Given the description of an element on the screen output the (x, y) to click on. 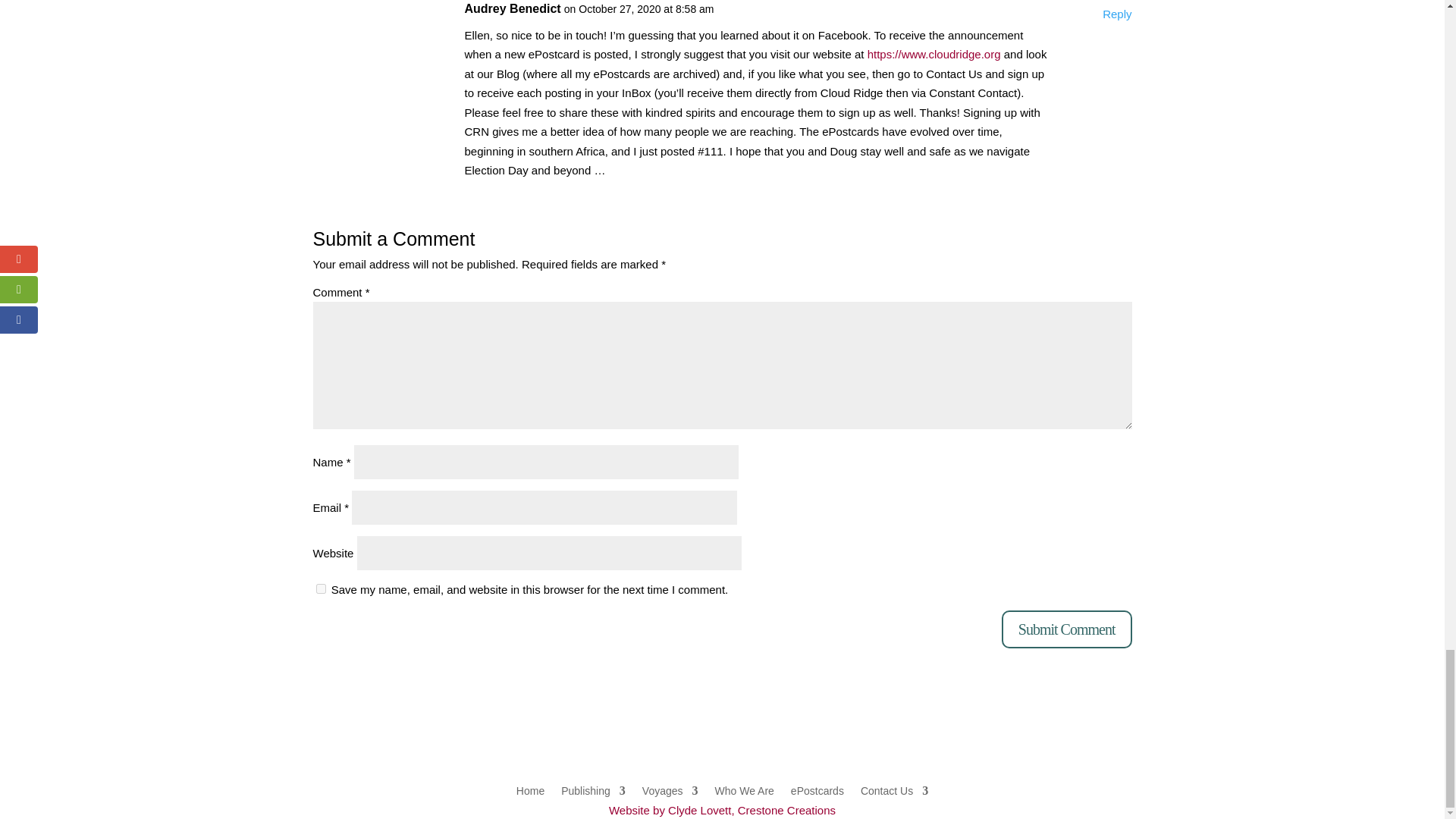
Audrey Benedict (512, 9)
Clyde Lovett, Crestone Creations (721, 809)
Submit Comment (1066, 629)
yes (319, 588)
